Given the description of an element on the screen output the (x, y) to click on. 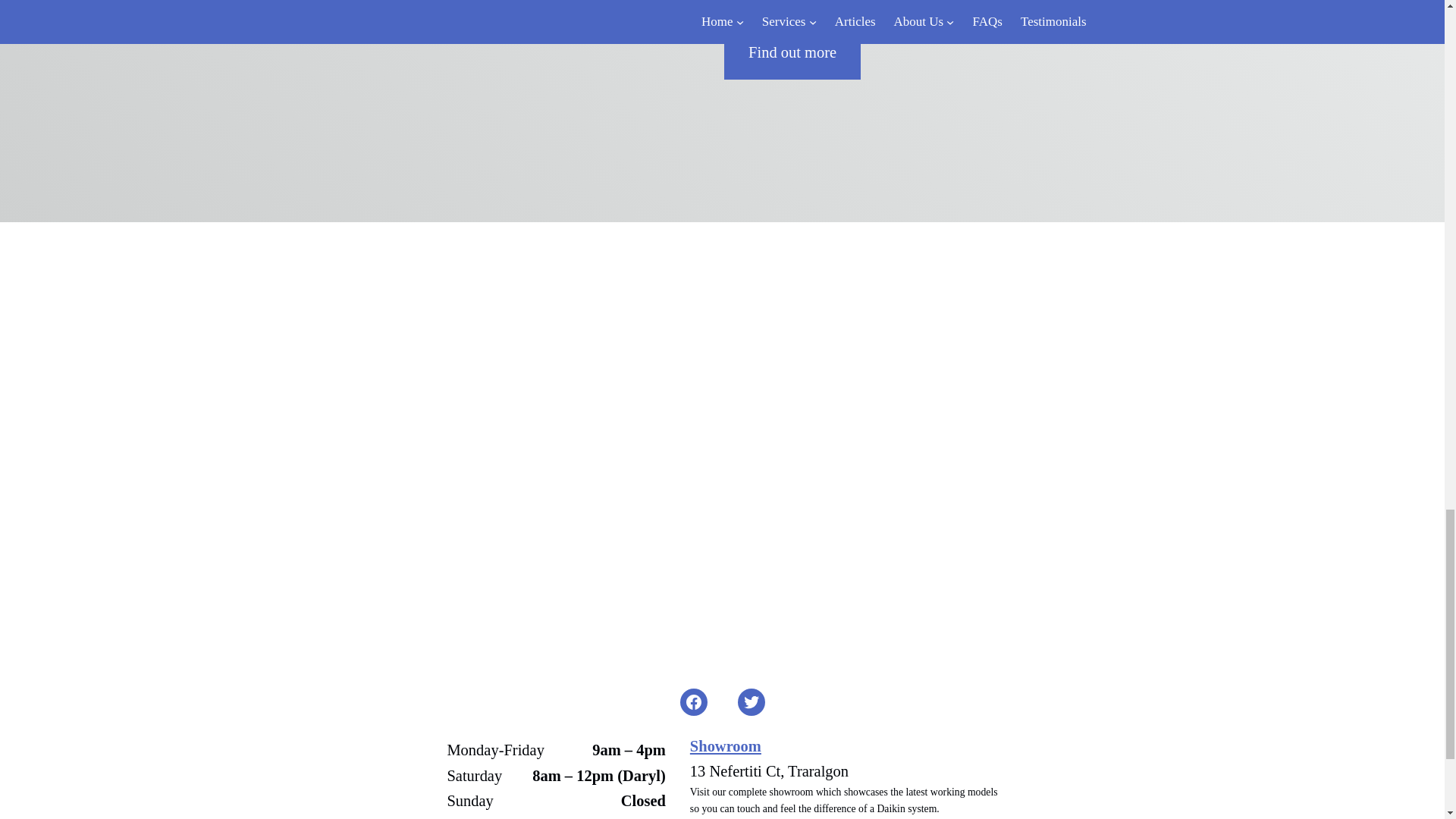
Find out more (792, 52)
Facebook (692, 701)
Showroom (725, 745)
Twitter (750, 701)
